Given the description of an element on the screen output the (x, y) to click on. 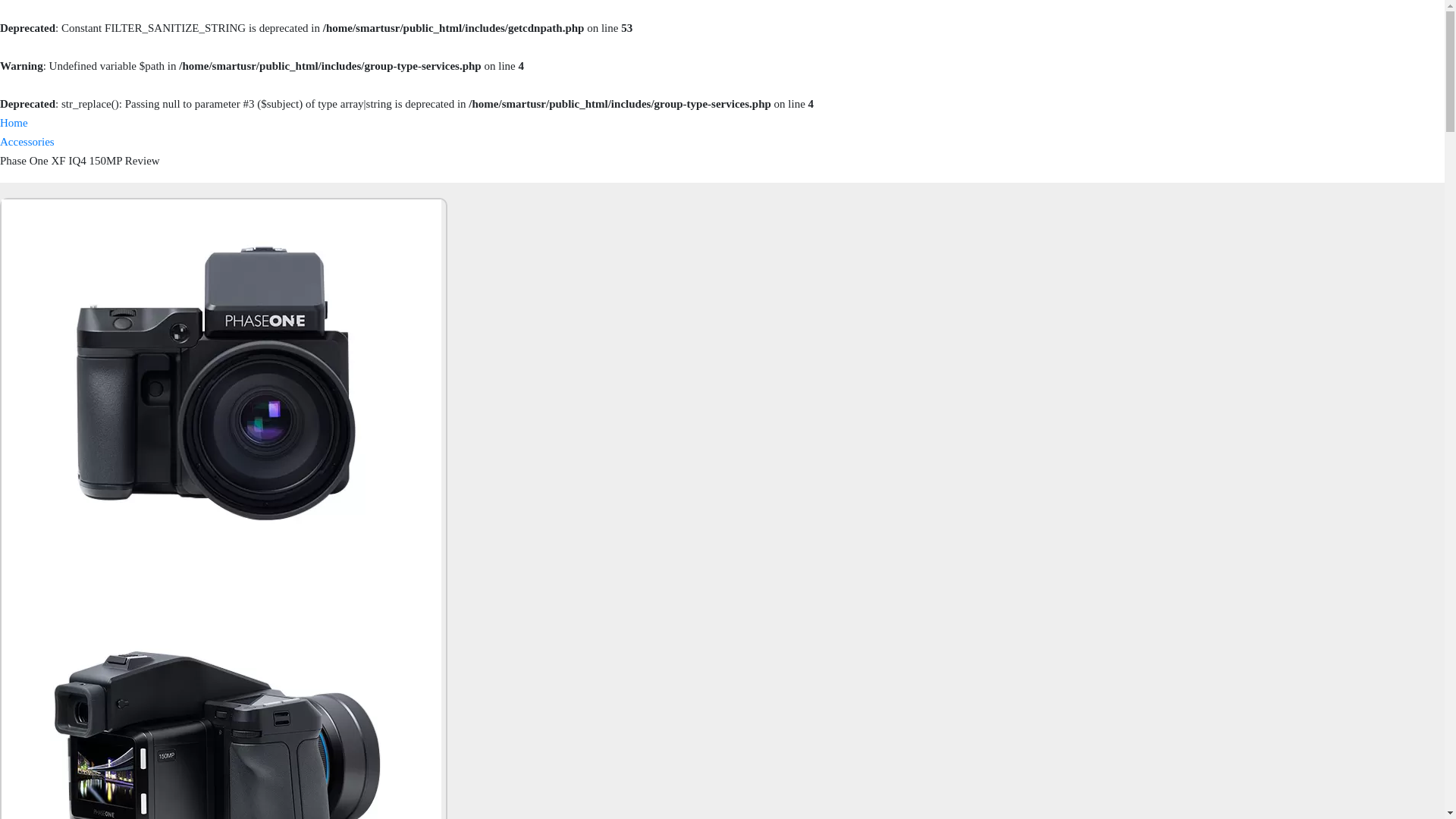
Home (13, 122)
Prespective 2 (221, 694)
Accessories (27, 141)
